Given the description of an element on the screen output the (x, y) to click on. 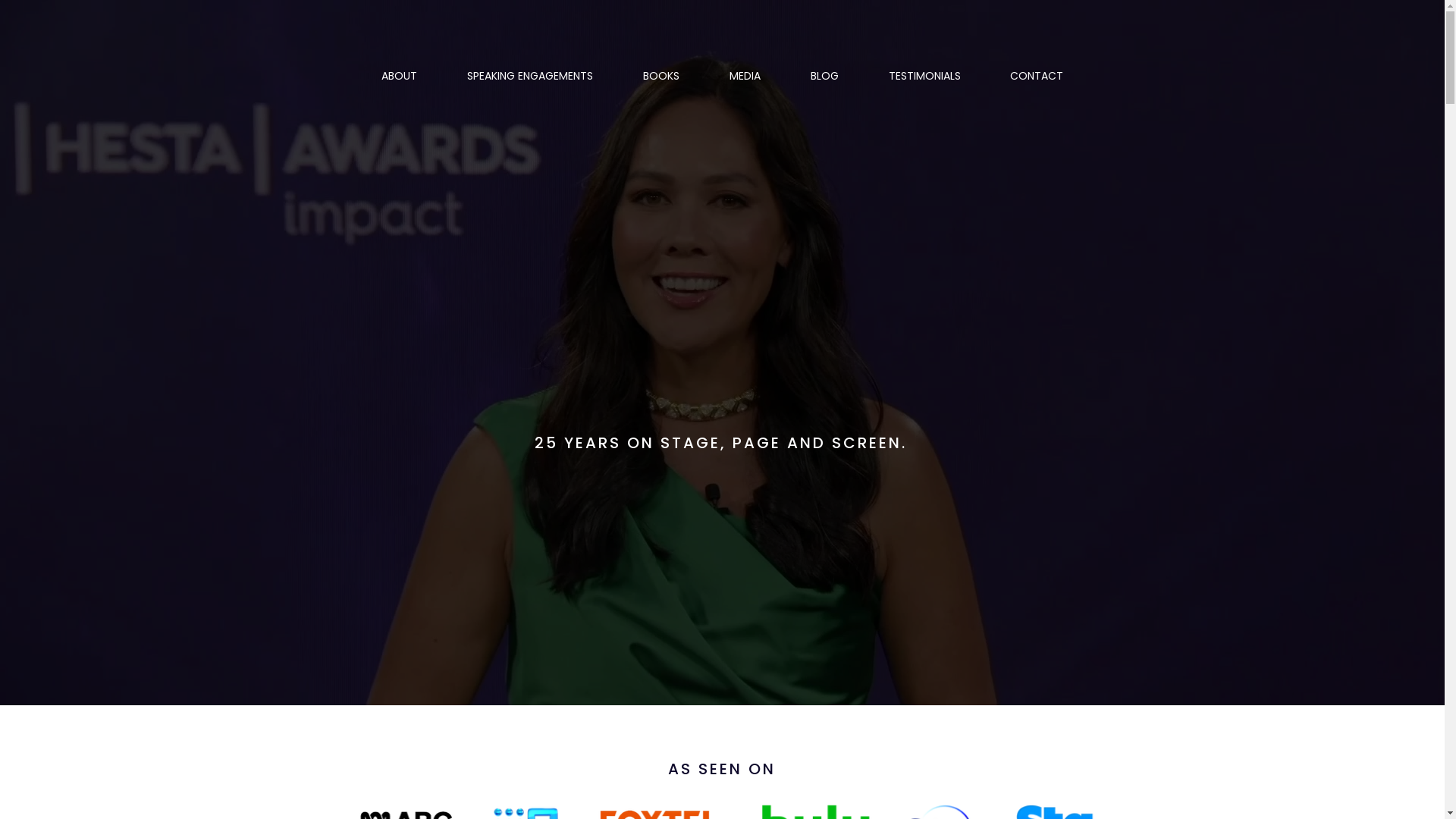
CONTACT Element type: text (1036, 75)
MEDIA Element type: text (743, 75)
BOOKS Element type: text (660, 75)
ABOUT Element type: text (399, 75)
TESTIMONIALS Element type: text (923, 75)
SPEAKING ENGAGEMENTS Element type: text (529, 75)
BLOG Element type: text (824, 75)
